Given the description of an element on the screen output the (x, y) to click on. 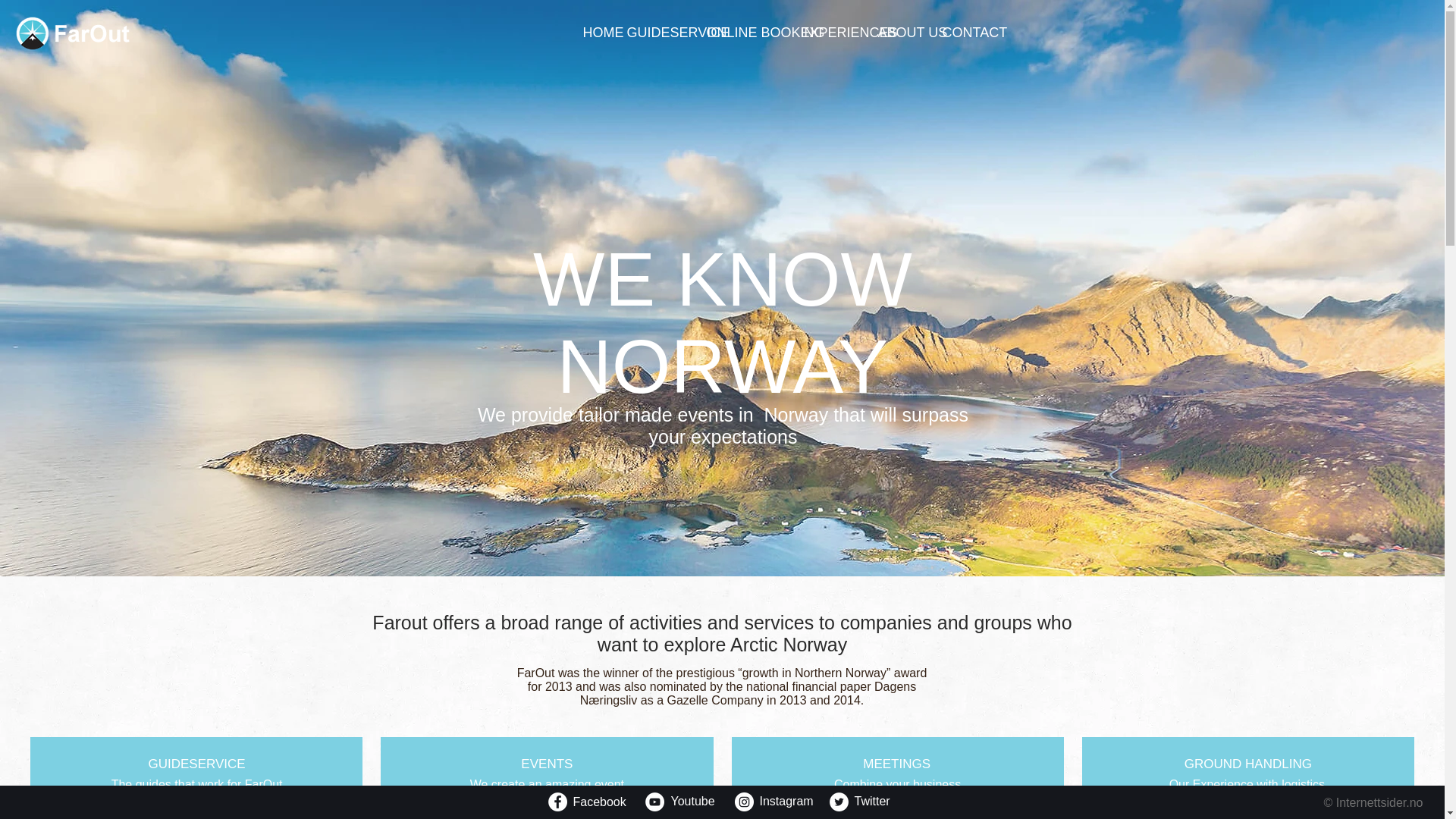
HOME (602, 33)
GUIDESERVICE (677, 33)
ONLINE BOOKING (765, 33)
EXPERIENCES (849, 33)
ABOUT US (912, 33)
Instagram (790, 801)
Twitter (874, 801)
CONTACT (974, 33)
Youtube (698, 801)
Facebook (605, 801)
